Given the description of an element on the screen output the (x, y) to click on. 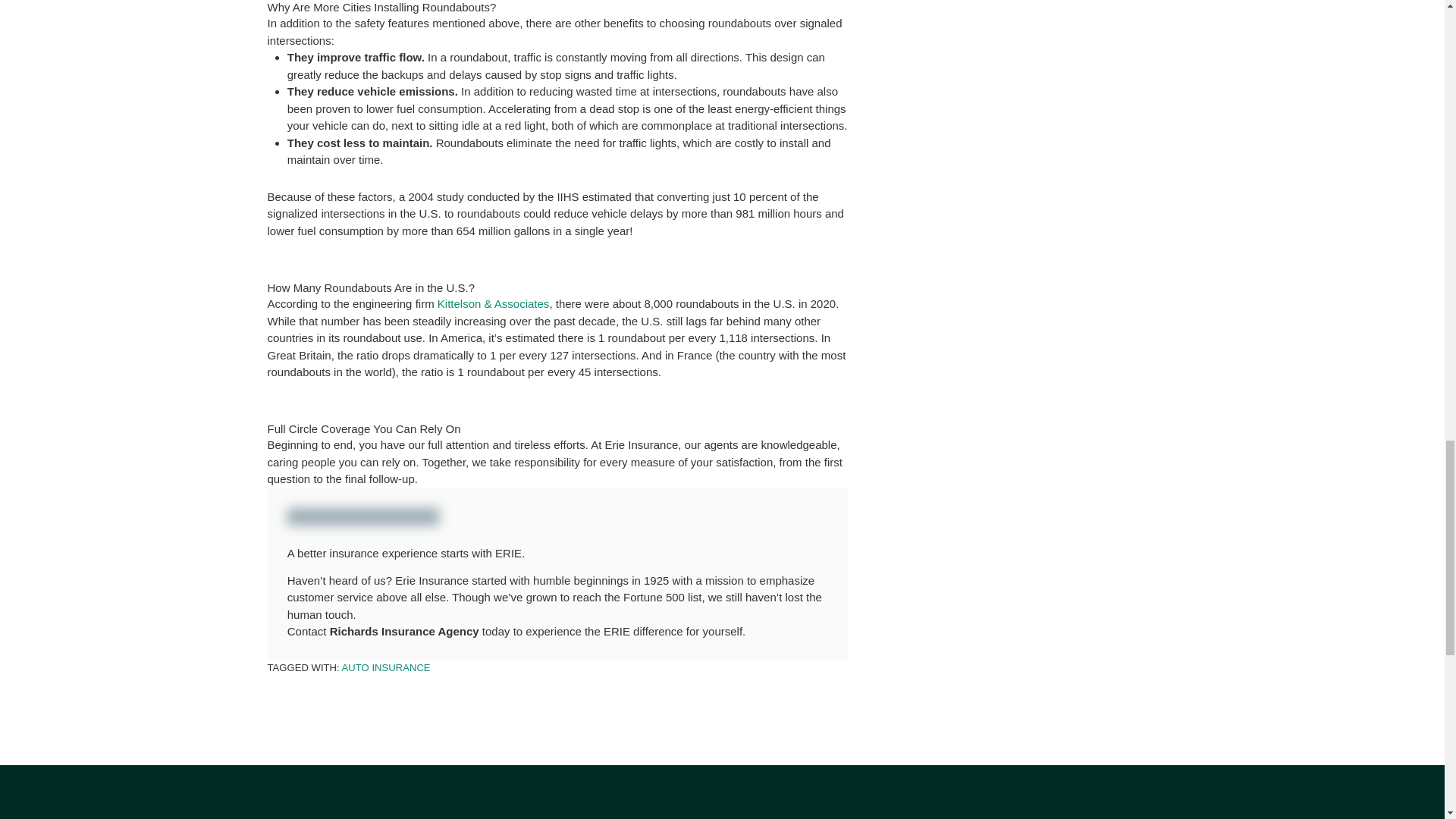
Auto Insurance (386, 667)
